Given the description of an element on the screen output the (x, y) to click on. 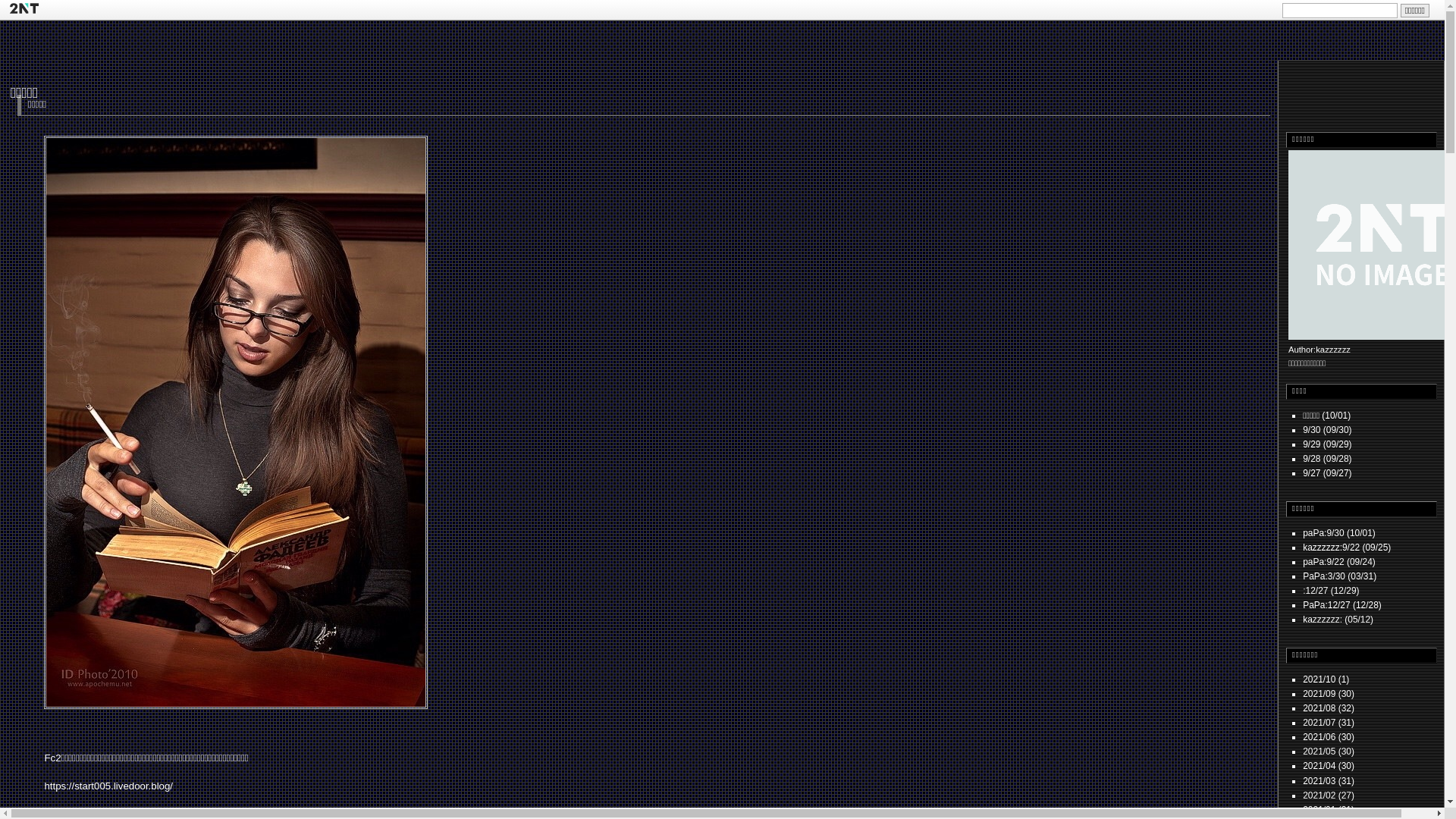
2021/07 (31) Element type: text (1328, 722)
kazzzzzz: (05/12) Element type: text (1337, 619)
2021/04 (30) Element type: text (1328, 765)
paPa:9/30 (10/01) Element type: text (1338, 532)
9/30 (09/30) Element type: text (1326, 429)
9/29 (09/29) Element type: text (1326, 444)
2021/01 (31) Element type: text (1328, 809)
PaPa:3/30 (03/31) Element type: text (1339, 576)
2021/02 (27) Element type: text (1328, 795)
paPa:9/22 (09/24) Element type: text (1338, 561)
2021/10 (1) Element type: text (1325, 679)
9/28 (09/28) Element type: text (1326, 458)
kazzzzzz:9/22 (09/25) Element type: text (1346, 547)
2021/08 (32) Element type: text (1328, 707)
PaPa:12/27 (12/28) Element type: text (1341, 604)
2021/05 (30) Element type: text (1328, 751)
2021/09 (30) Element type: text (1328, 693)
2021/06 (30) Element type: text (1328, 736)
2021/03 (31) Element type: text (1328, 780)
9/27 (09/27) Element type: text (1326, 472)
:12/27 (12/29) Element type: text (1330, 590)
